Given the description of an element on the screen output the (x, y) to click on. 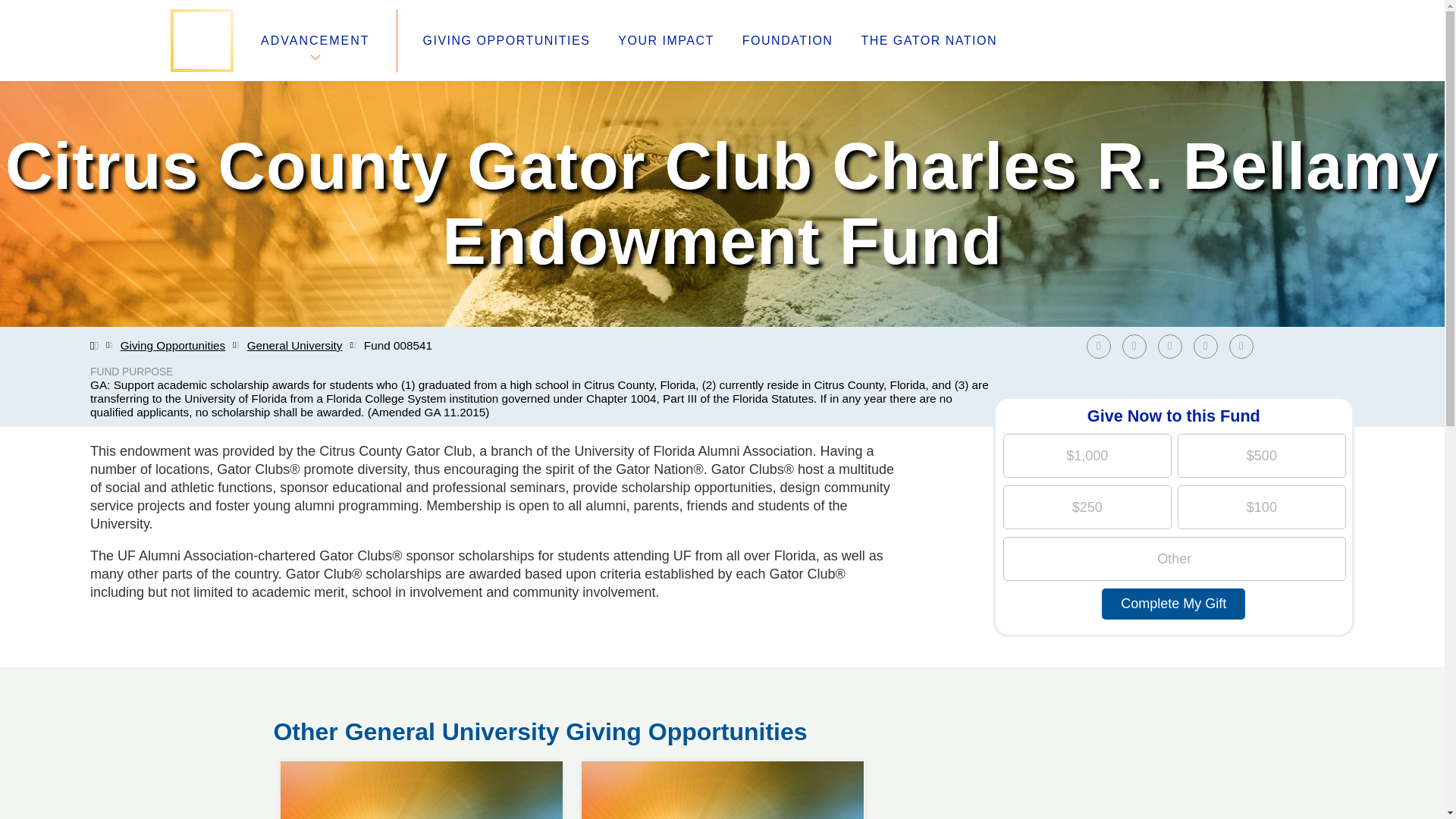
Giving Opportunities (172, 345)
Share on Twitter (1138, 345)
Privacy Policy (545, 704)
Advancement Toolkit (565, 686)
Share by Email (1244, 345)
Foundation Board (327, 704)
Staff Directory (316, 686)
University of Florida (840, 668)
Share on Reddit (1205, 346)
YOUR IMPACT (421, 761)
Share on LinkedIn (665, 40)
Share on Facebook (1173, 345)
Share by Email (1102, 345)
